Given the description of an element on the screen output the (x, y) to click on. 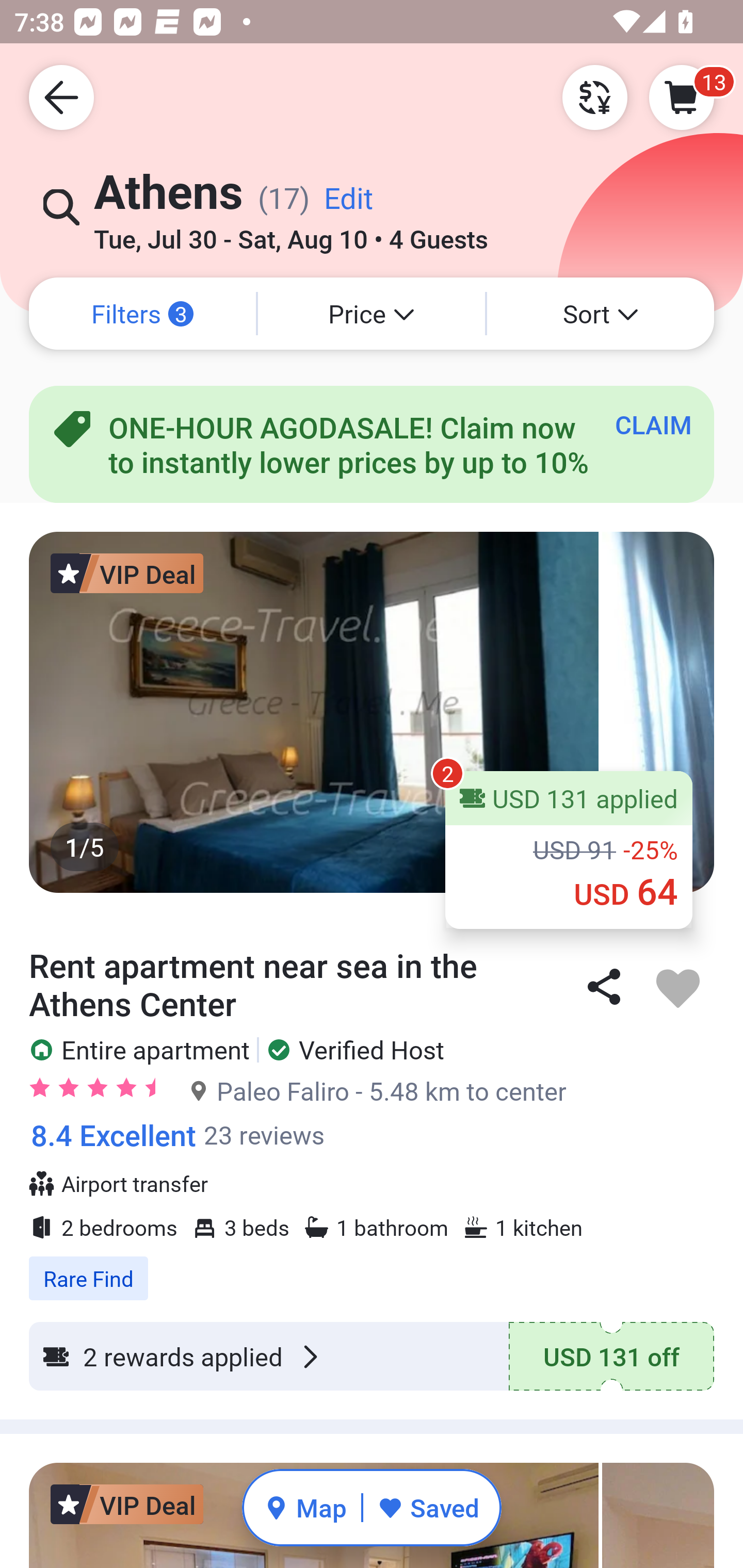
Filters 3 (141, 313)
Price (371, 313)
Sort (600, 313)
CLAIM (653, 424)
VIP Deal (126, 572)
1/5 (371, 711)
USD 131 applied ‪USD 91 -25% ‪USD 64 2 (568, 849)
Rare Find (371, 1267)
2 rewards applied USD 131 off (371, 1356)
VIP Deal (126, 1504)
Map (305, 1507)
Saved (428, 1507)
